Given the description of an element on the screen output the (x, y) to click on. 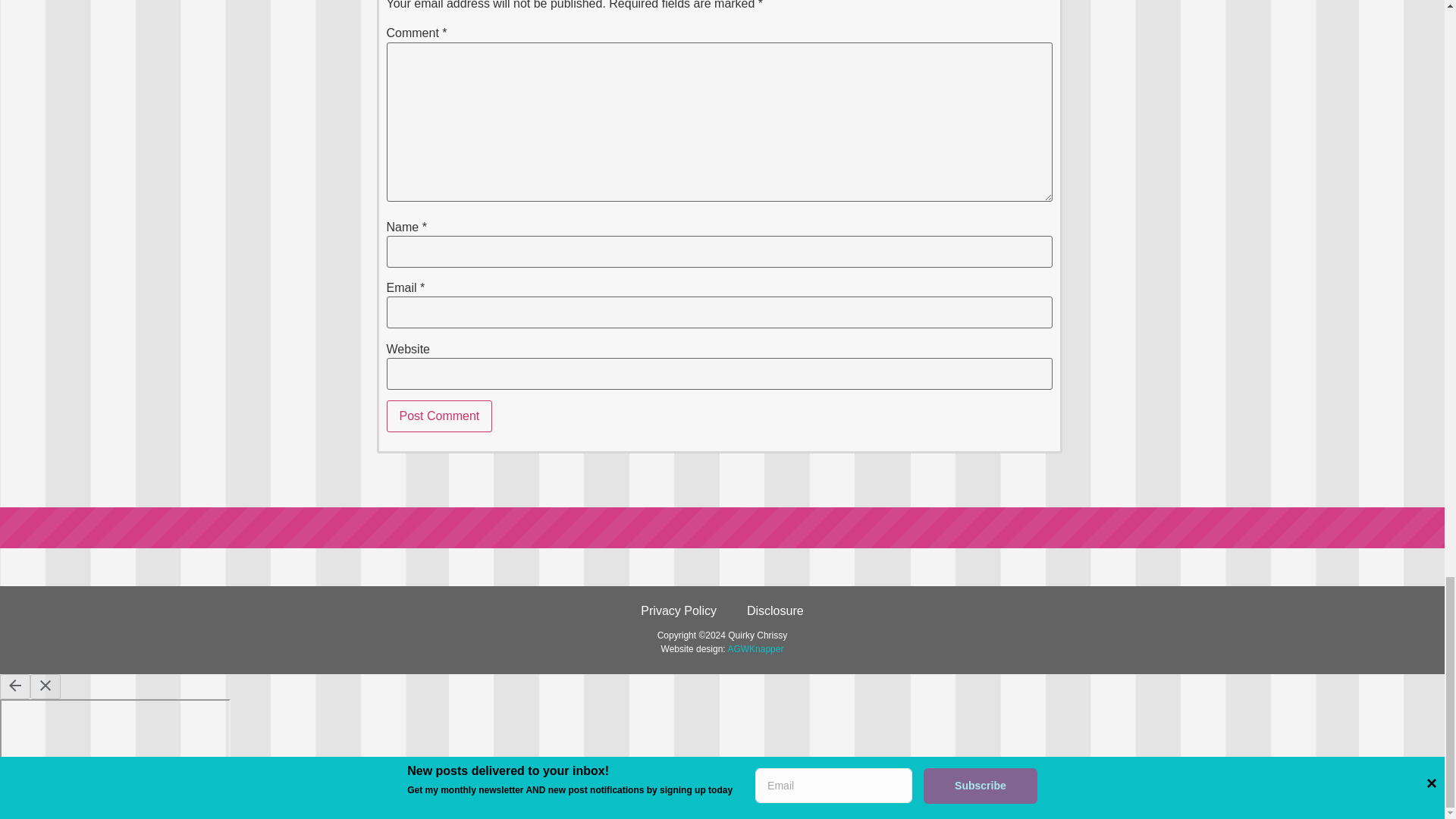
Post Comment (440, 416)
